Given the description of an element on the screen output the (x, y) to click on. 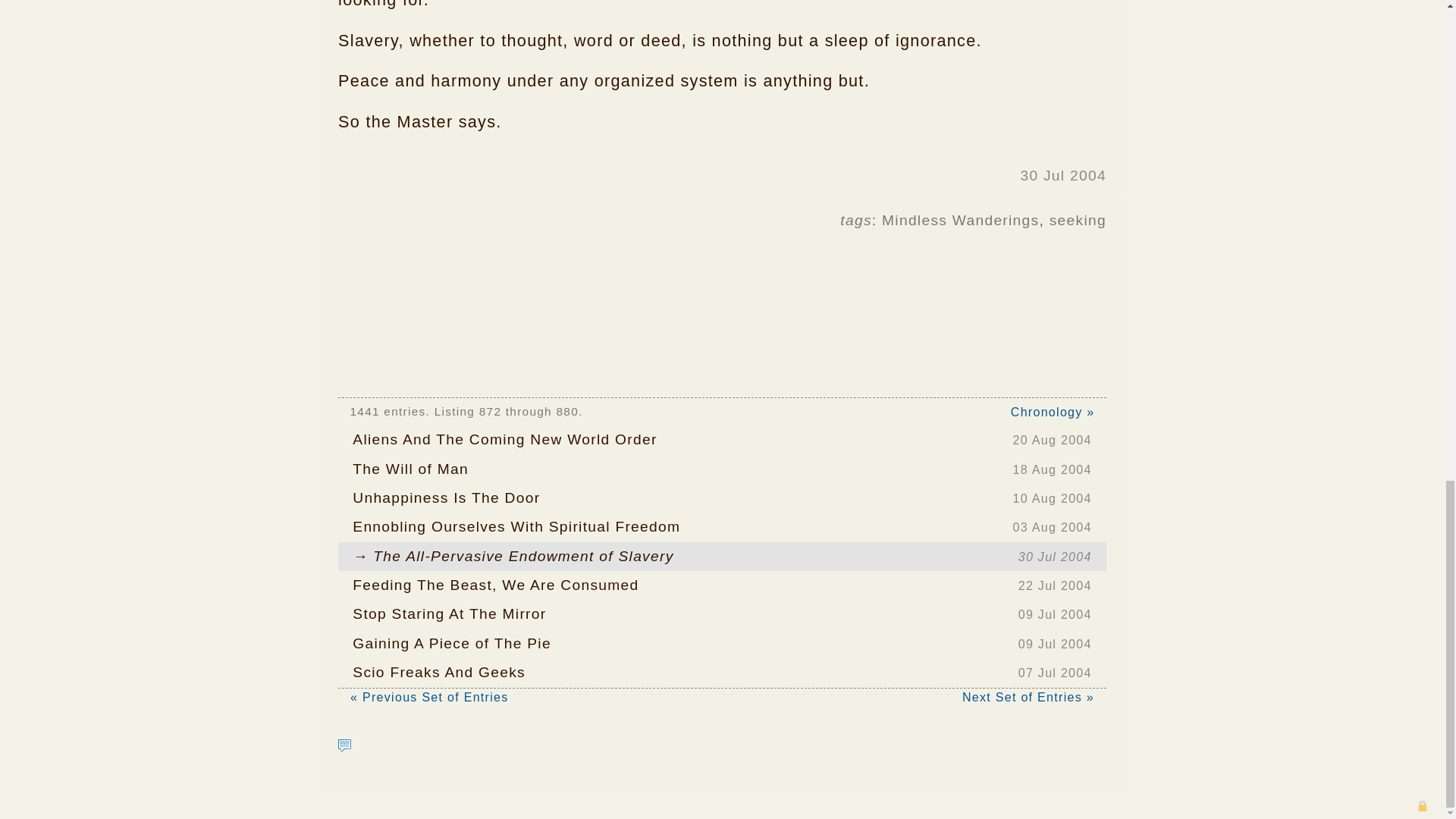
Mindless Wanderings (721, 614)
seeking (721, 469)
tags (960, 220)
Random quote (1077, 220)
